Given the description of an element on the screen output the (x, y) to click on. 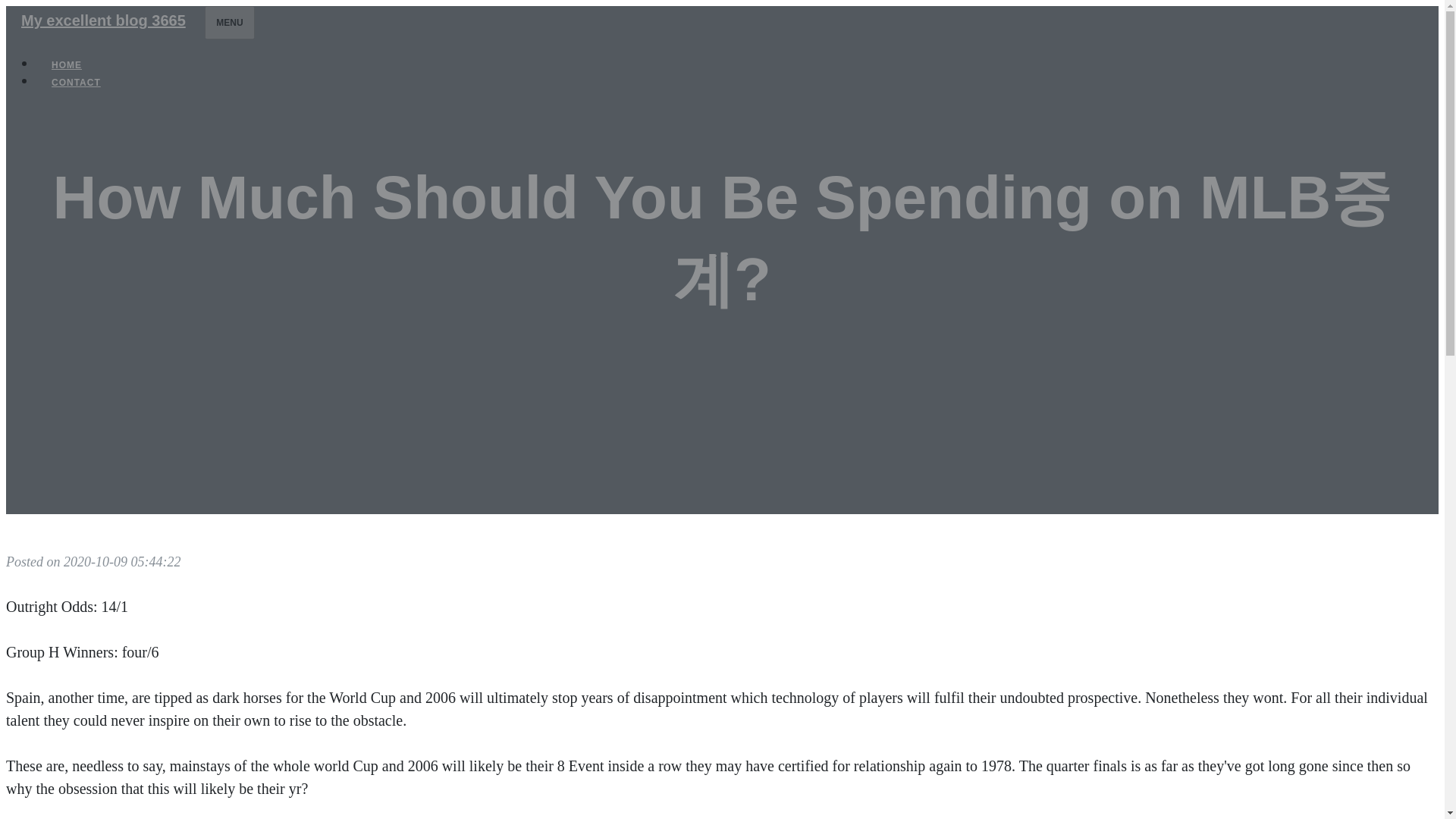
My excellent blog 3665 (102, 20)
CONTACT (76, 82)
HOME (66, 64)
MENU (229, 22)
